Given the description of an element on the screen output the (x, y) to click on. 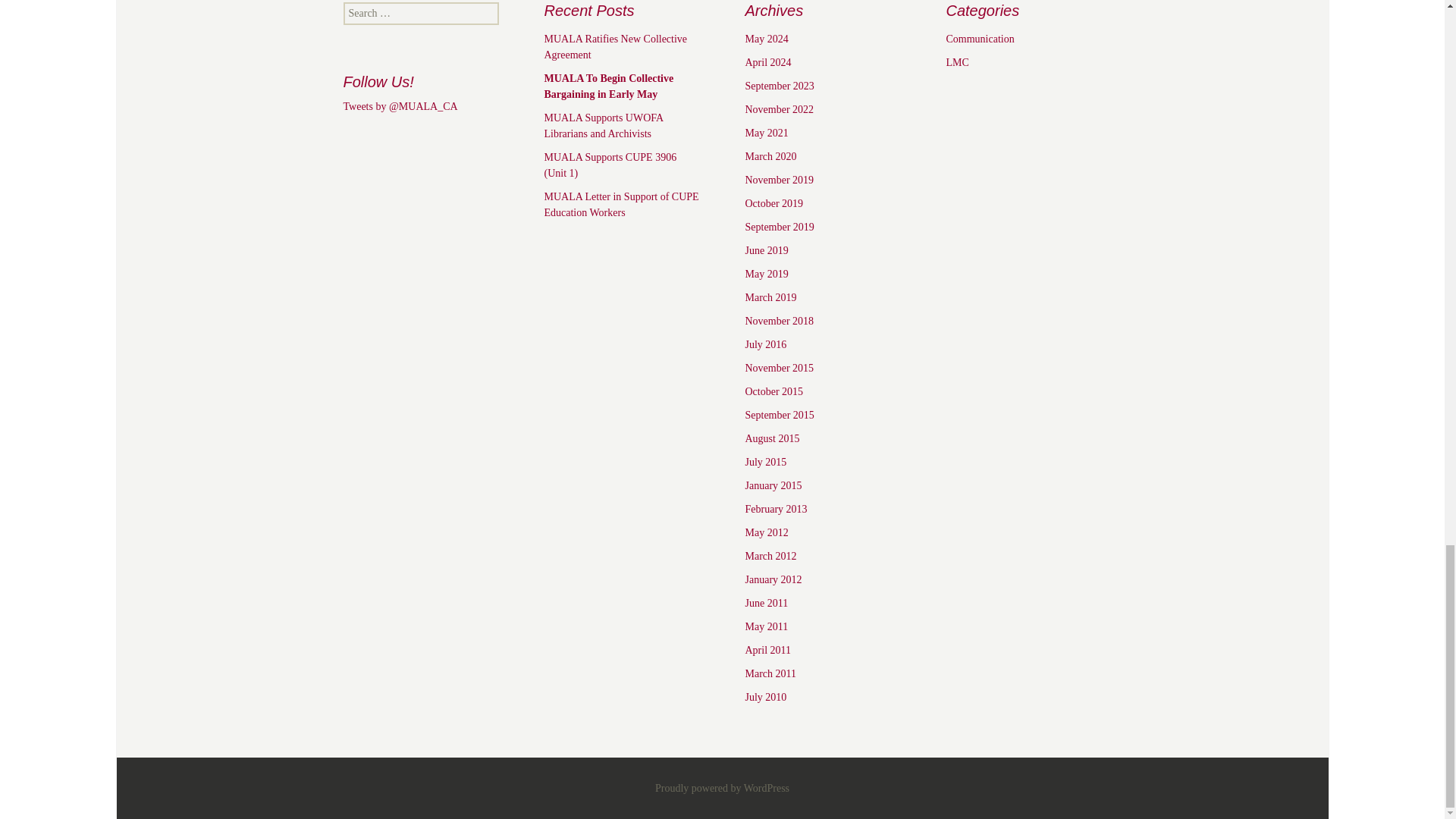
MUALA Letter in Support of CUPE Education Workers (621, 204)
MUALA Supports UWOFA Librarians and Archivists (603, 125)
September 2023 (778, 85)
November 2019 (778, 179)
September 2019 (778, 226)
July 2015 (765, 461)
November 2015 (778, 367)
May 2019 (765, 274)
October 2019 (773, 203)
March 2020 (770, 156)
MUALA Ratifies New Collective Agreement (615, 46)
March 2019 (770, 297)
November 2018 (778, 320)
June 2019 (765, 250)
October 2015 (773, 391)
